Given the description of an element on the screen output the (x, y) to click on. 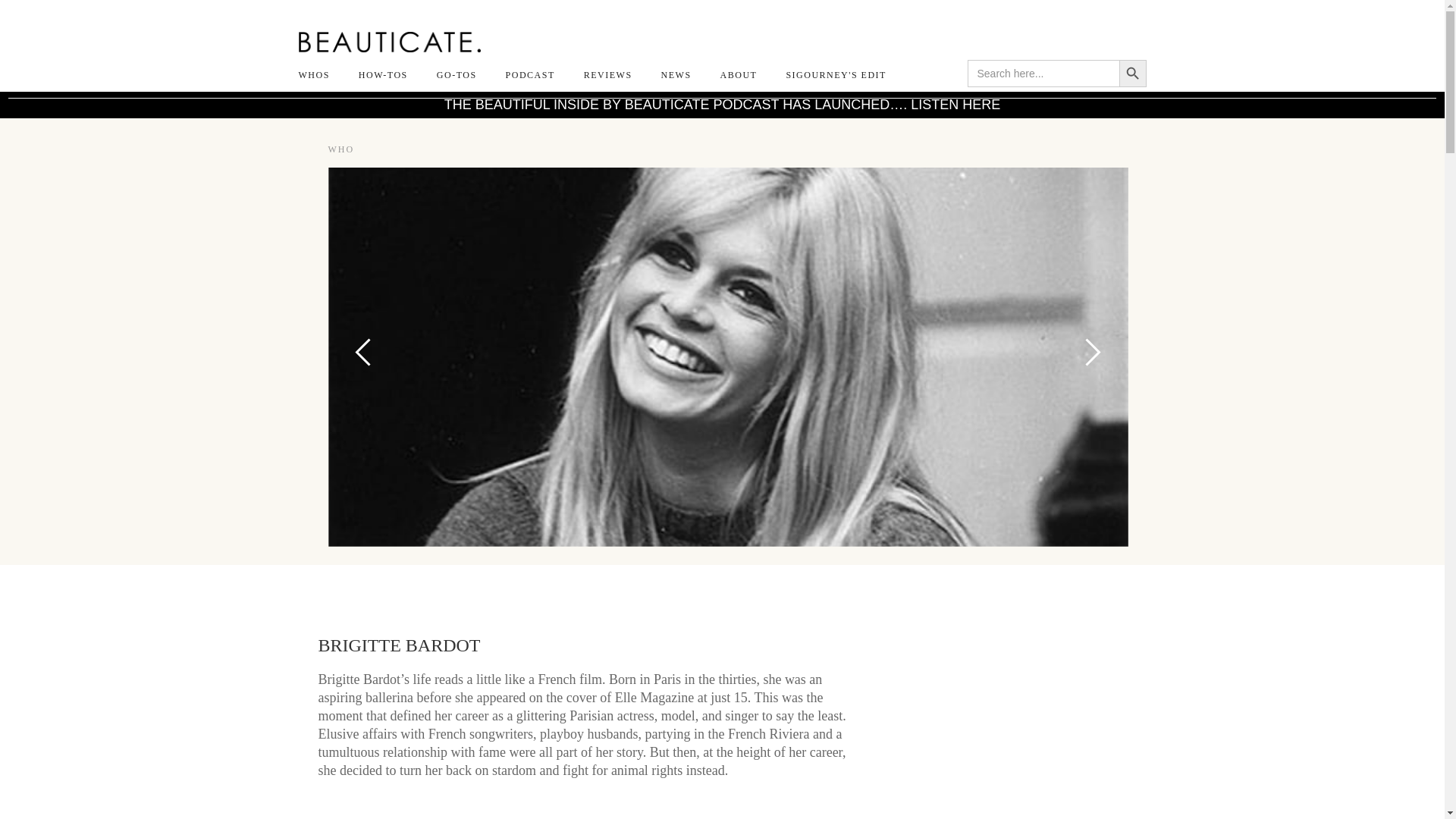
HOW-TOS (382, 74)
GO-TOS (457, 74)
WHOS (320, 74)
